Given the description of an element on the screen output the (x, y) to click on. 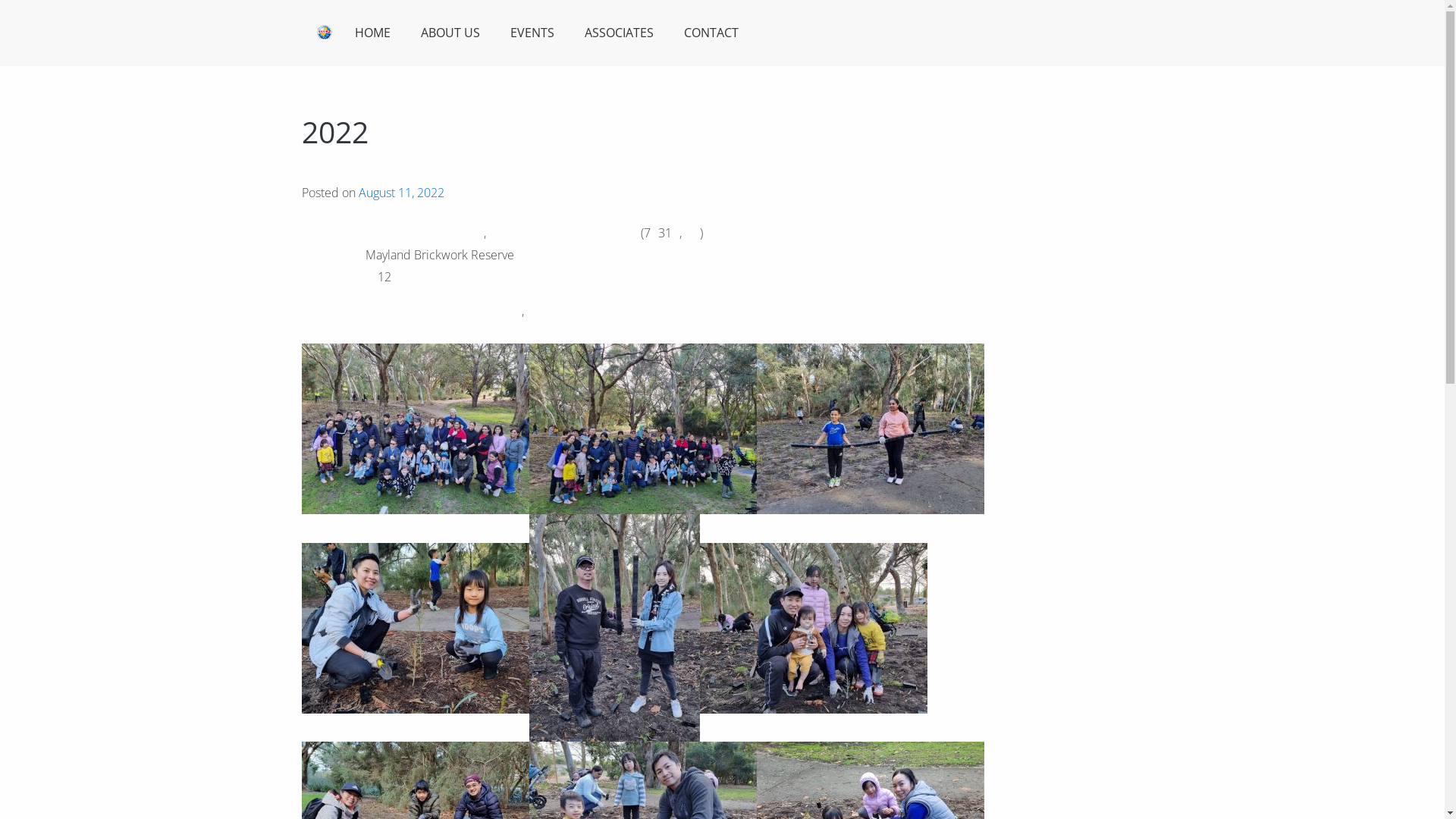
CONTACT Element type: text (710, 32)
August 11, 2022 Element type: text (400, 192)
ABOUT US Element type: text (449, 32)
EVENTS Element type: text (531, 32)
ASSOCIATES Element type: text (618, 32)
HOME Element type: text (353, 32)
